Given the description of an element on the screen output the (x, y) to click on. 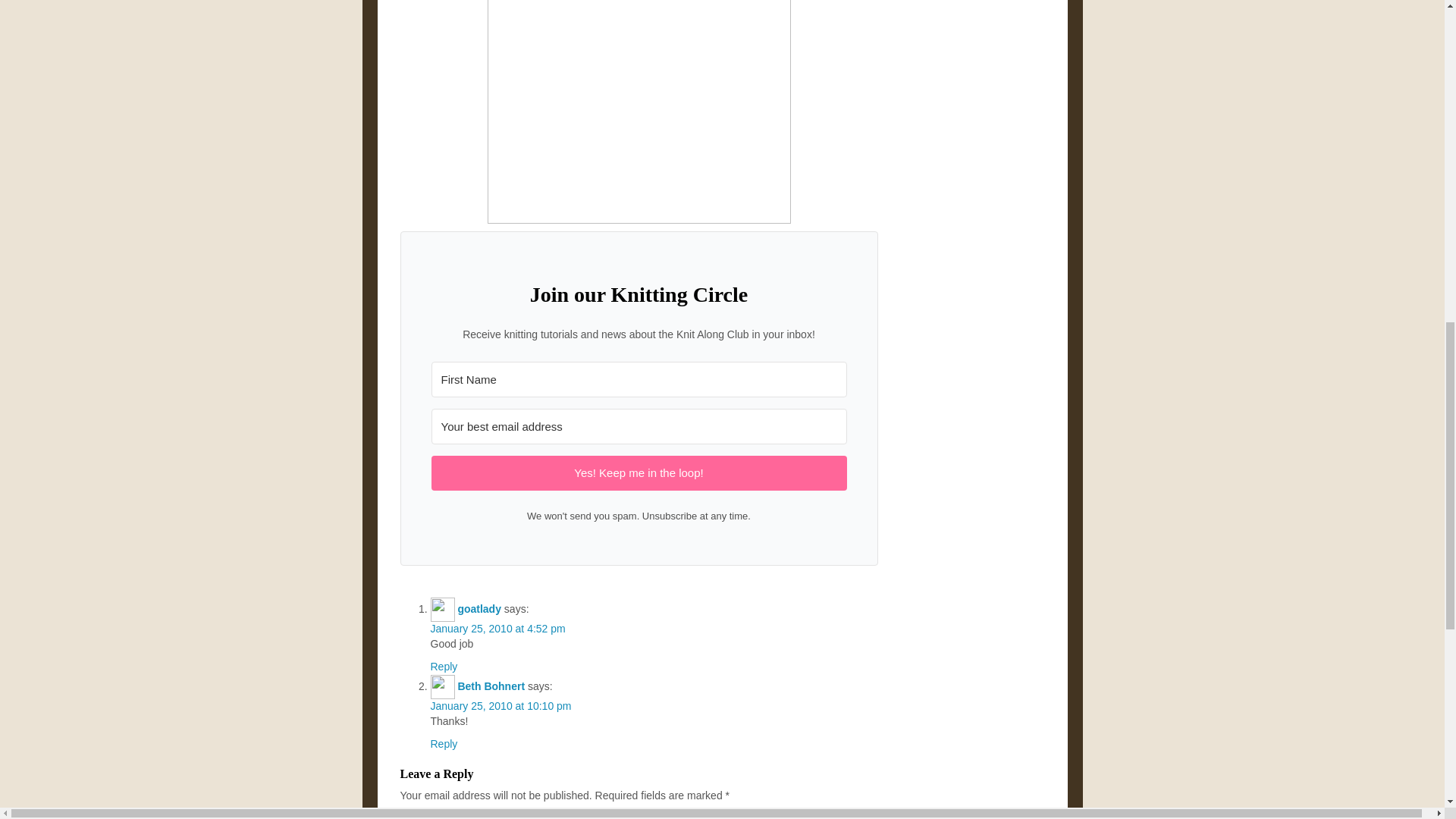
Reply (444, 743)
Reply (444, 666)
Beth Bohnert (490, 686)
January 25, 2010 at 10:10 pm (501, 705)
Yes! Keep me in the loop! (637, 472)
January 25, 2010 at 4:52 pm (498, 628)
goatlady (478, 608)
